Given the description of an element on the screen output the (x, y) to click on. 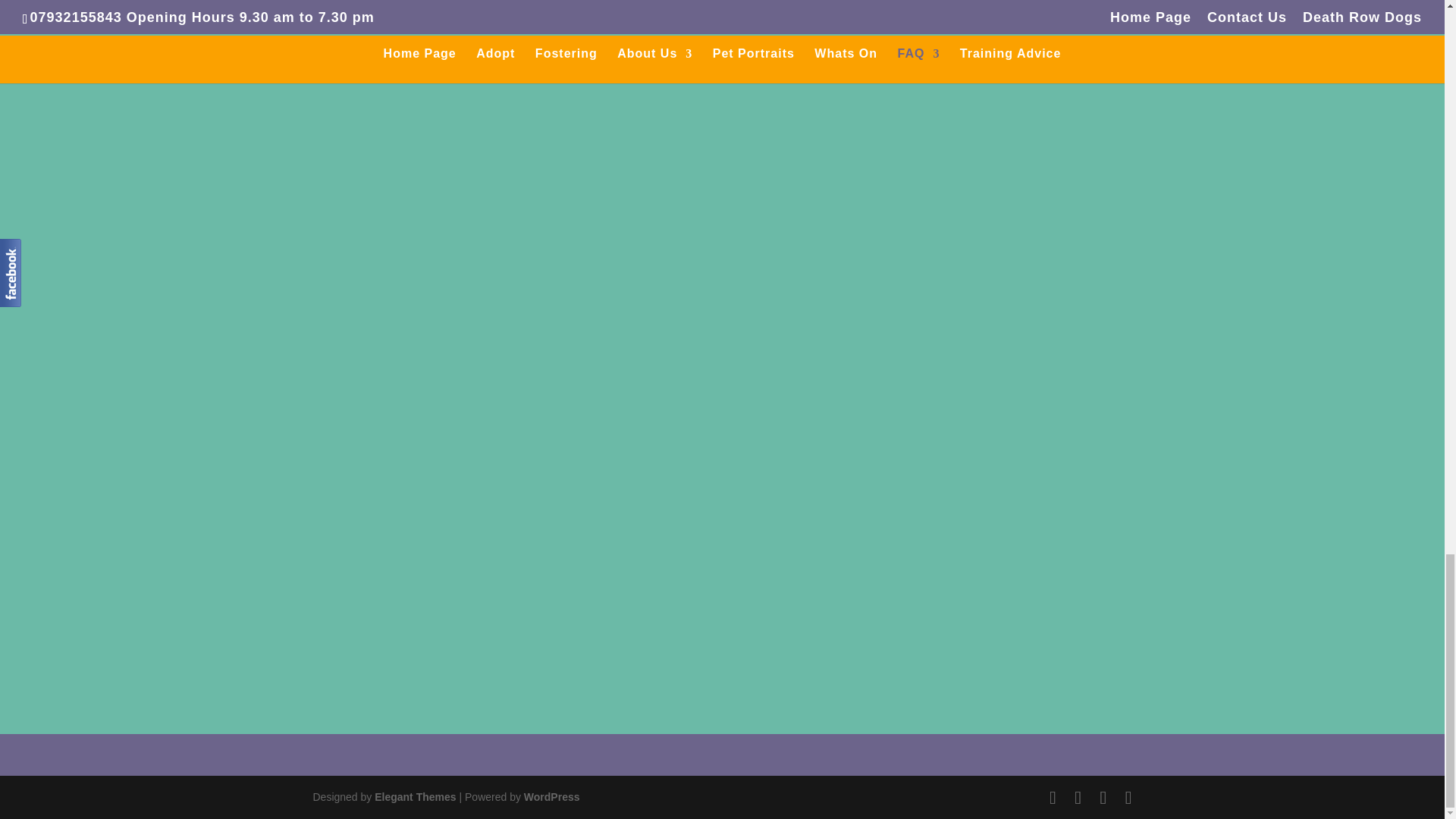
Premium WordPress Themes (414, 797)
Elegant Themes (414, 797)
